Given the description of an element on the screen output the (x, y) to click on. 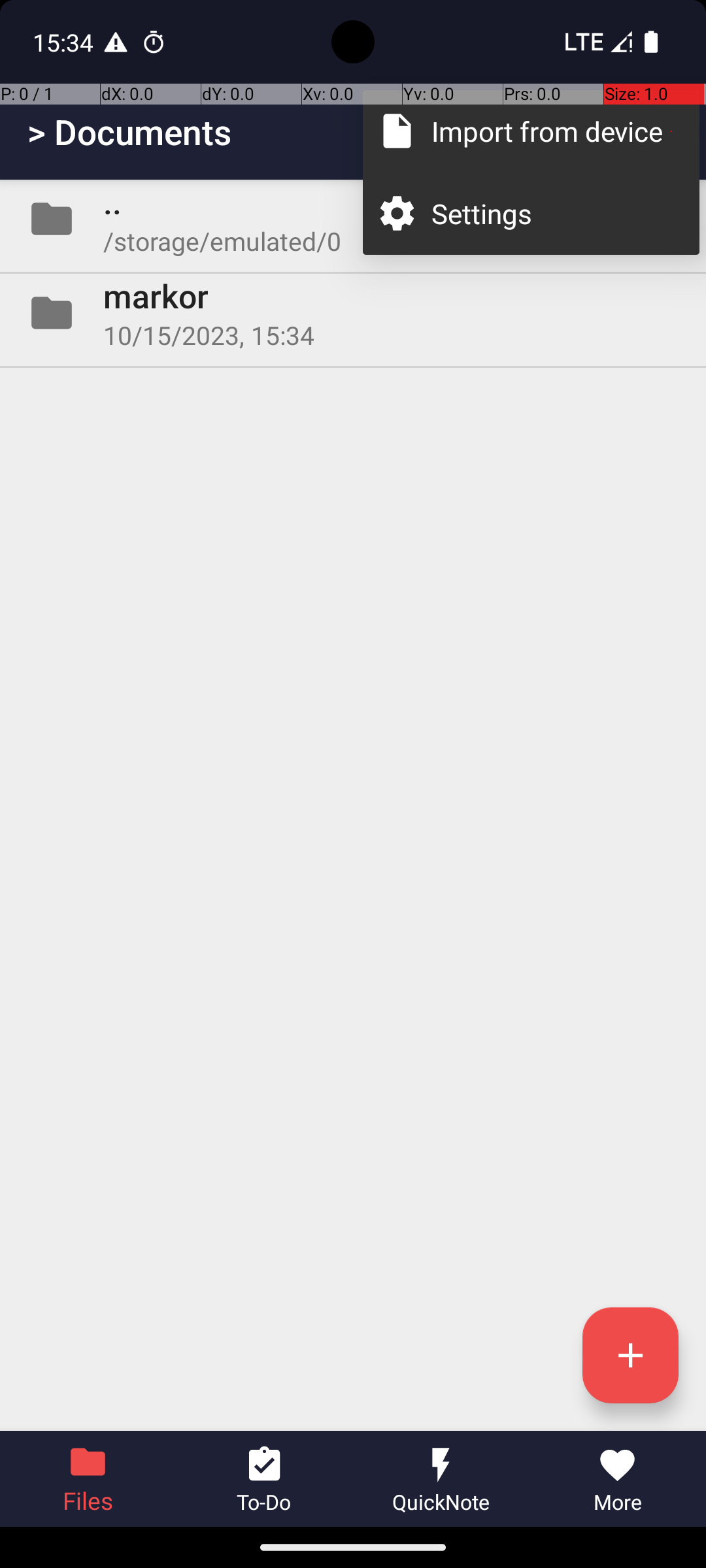
Import from device Element type: android.widget.TextView (551, 130)
